Given the description of an element on the screen output the (x, y) to click on. 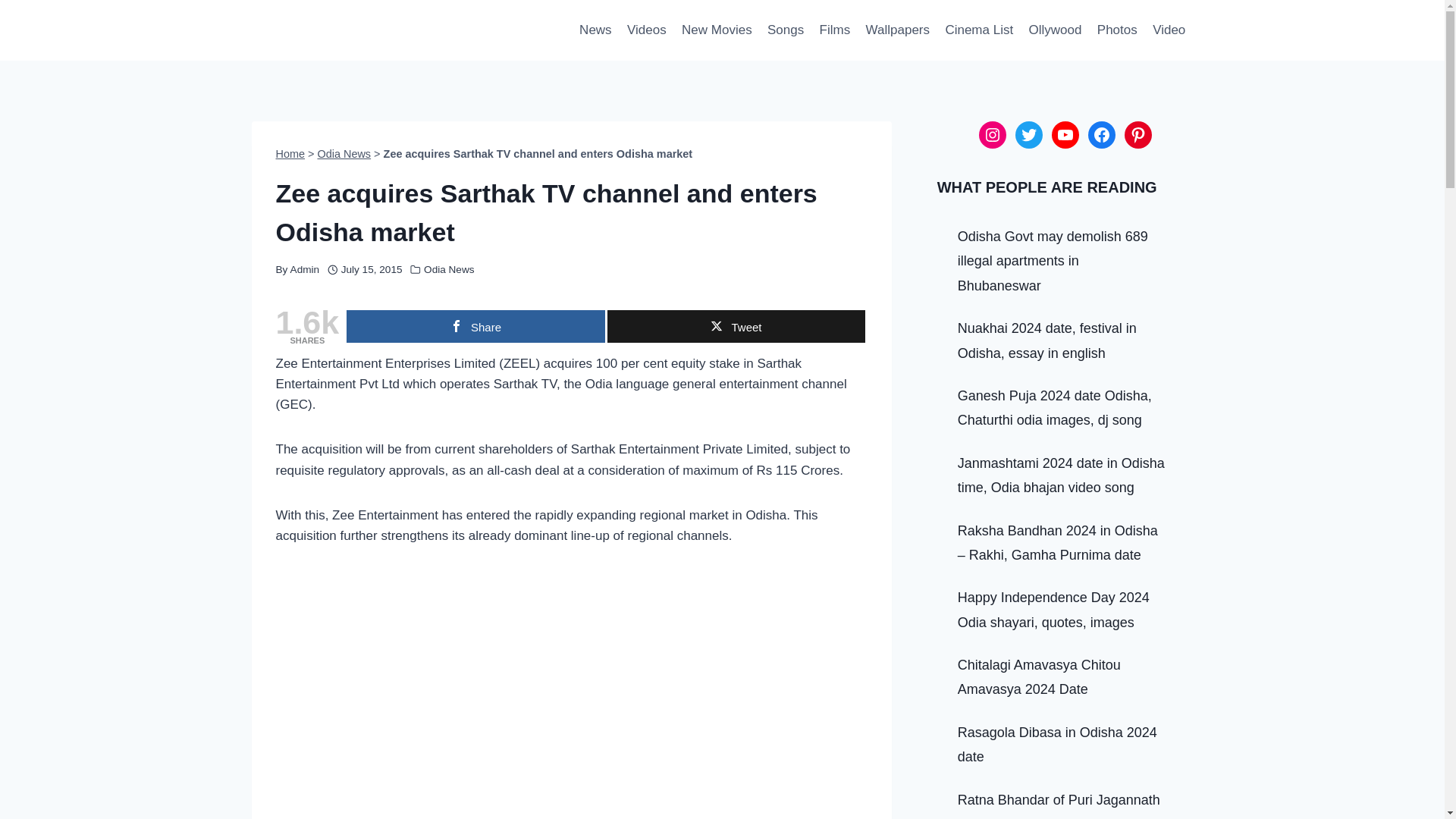
Tweet (735, 326)
Video (1168, 30)
Home (290, 153)
Wallpapers (897, 30)
Ollywood (1054, 30)
Films (833, 30)
Odia News (344, 153)
Videos (647, 30)
Cinema List (978, 30)
Odia News (448, 269)
